Given the description of an element on the screen output the (x, y) to click on. 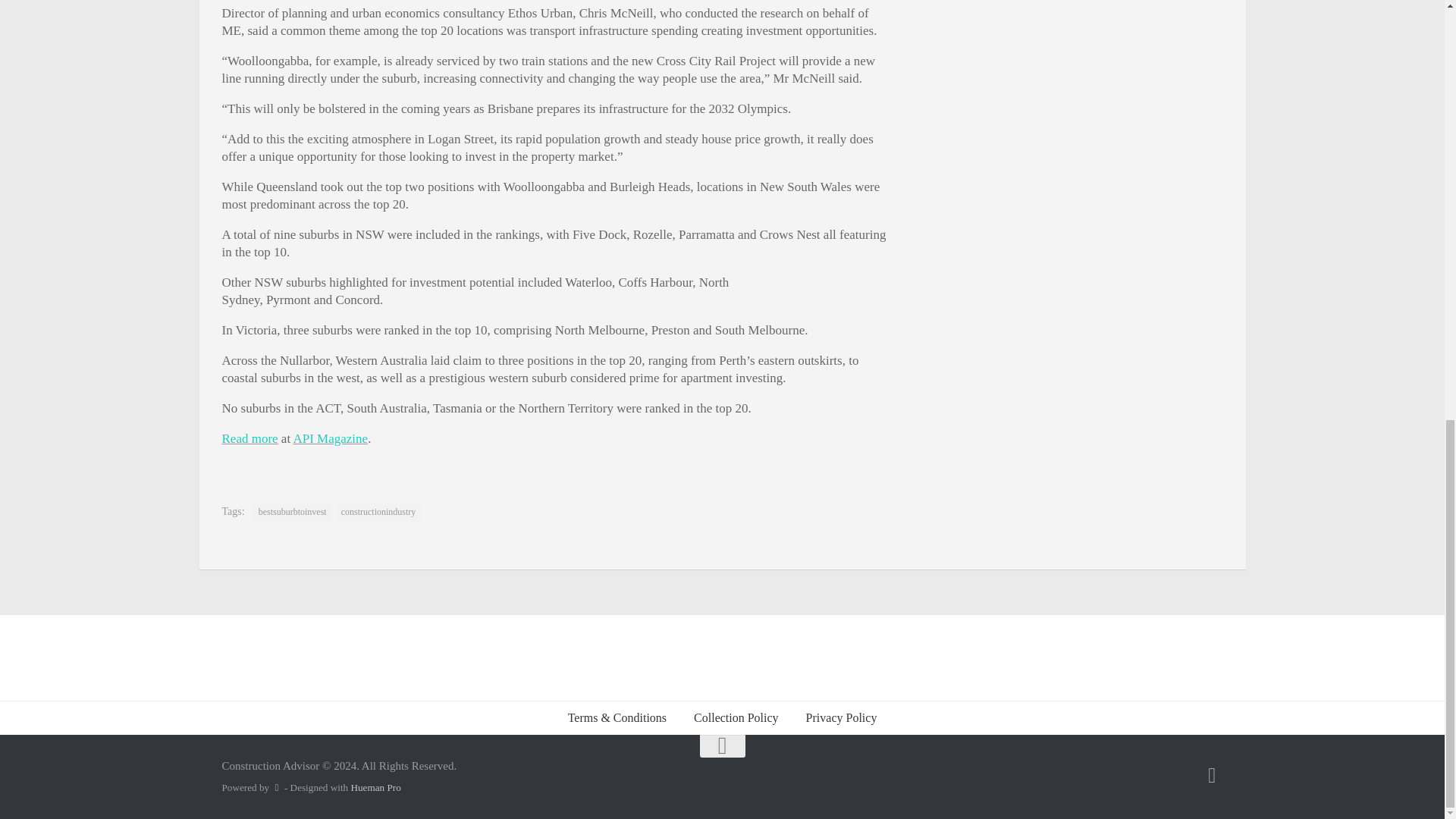
Hueman Pro (375, 787)
constructionindustry (379, 512)
Powered by WordPress (275, 787)
bestsuburbtoinvest (292, 512)
Follow us on Linkedin (1212, 775)
API Magazine (330, 438)
Read more (249, 438)
Hueman Pro (375, 787)
Privacy Policy (841, 717)
Collection Policy (735, 717)
